Given the description of an element on the screen output the (x, y) to click on. 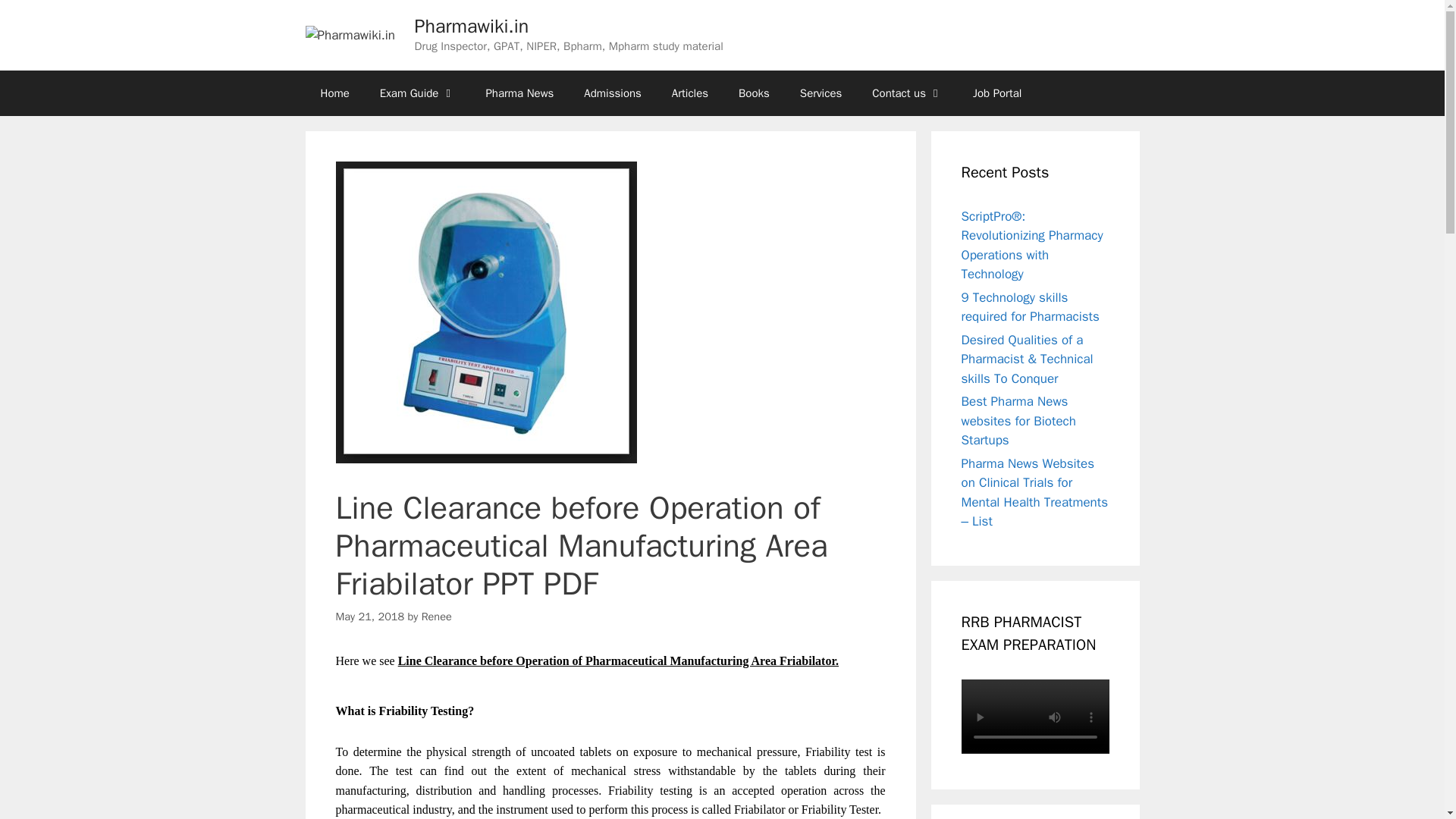
Exam Guide (417, 92)
Pharma News (519, 92)
Articles (689, 92)
Pharmawiki.in (471, 25)
View all posts by Renee (436, 616)
Services (820, 92)
Home (334, 92)
Renee (436, 616)
Admissions (612, 92)
Books (753, 92)
pharmawiki Job Portal (997, 92)
Contact us (907, 92)
Job Portal (997, 92)
